Given the description of an element on the screen output the (x, y) to click on. 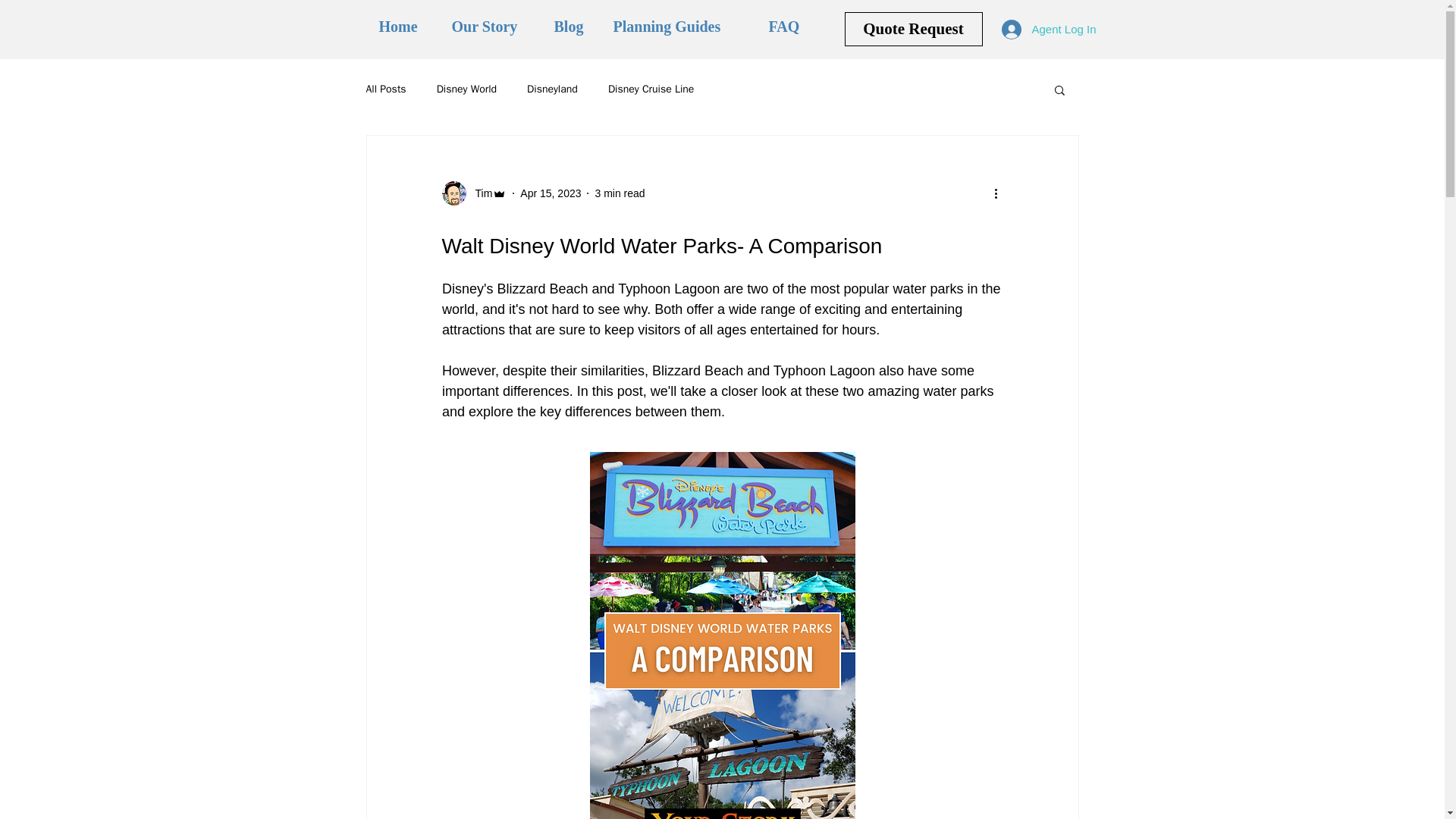
Quote Request (913, 28)
Tim (473, 192)
Planning Guides (679, 26)
Disneyland (552, 89)
Disney World (466, 89)
FAQ (786, 26)
Blog (572, 26)
Apr 15, 2023 (549, 192)
Home (402, 26)
All Posts (385, 89)
